Given the description of an element on the screen output the (x, y) to click on. 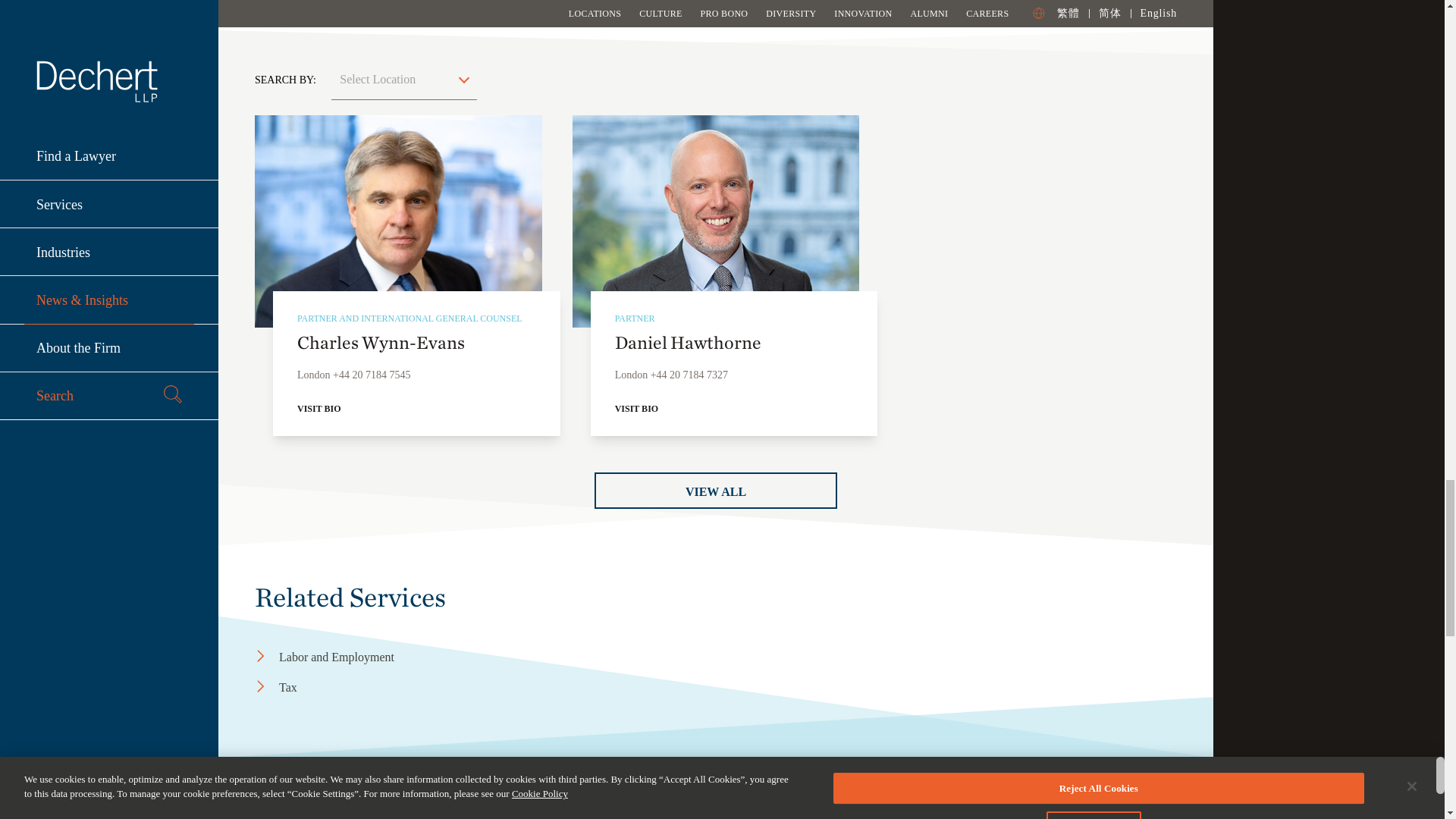
Charles Wynn-Evans (397, 221)
Daniel Hawthorne (716, 221)
